Given the description of an element on the screen output the (x, y) to click on. 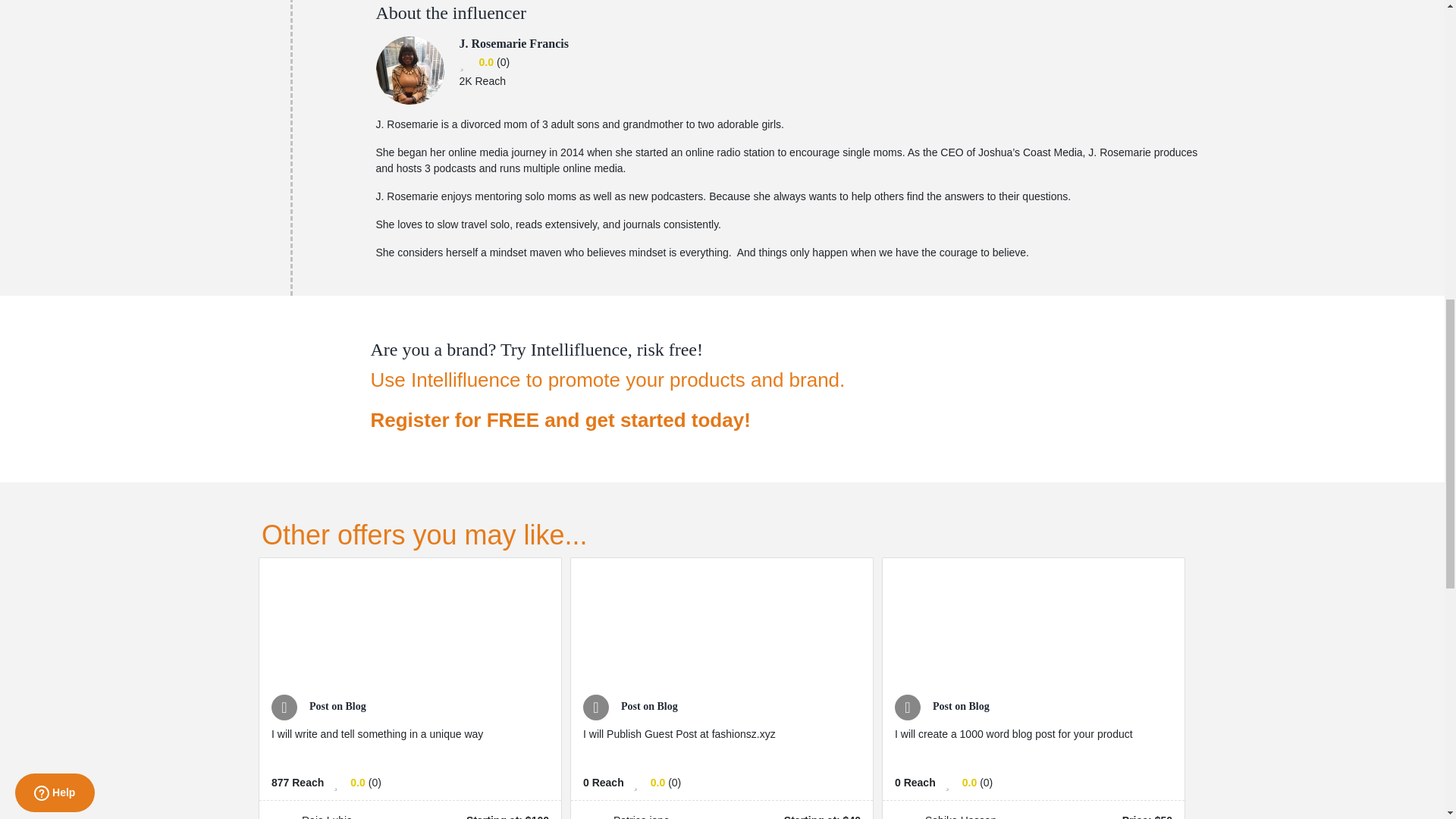
Star rating out of 5 (657, 782)
Number of reviews (674, 782)
Register for FREE and get started today! (606, 420)
Star rating out of 5 (969, 782)
Number of reviews (502, 62)
Star rating out of 5 (357, 782)
Star rating out of 5 (486, 62)
Number of reviews (374, 782)
Number of reviews (985, 782)
